Given the description of an element on the screen output the (x, y) to click on. 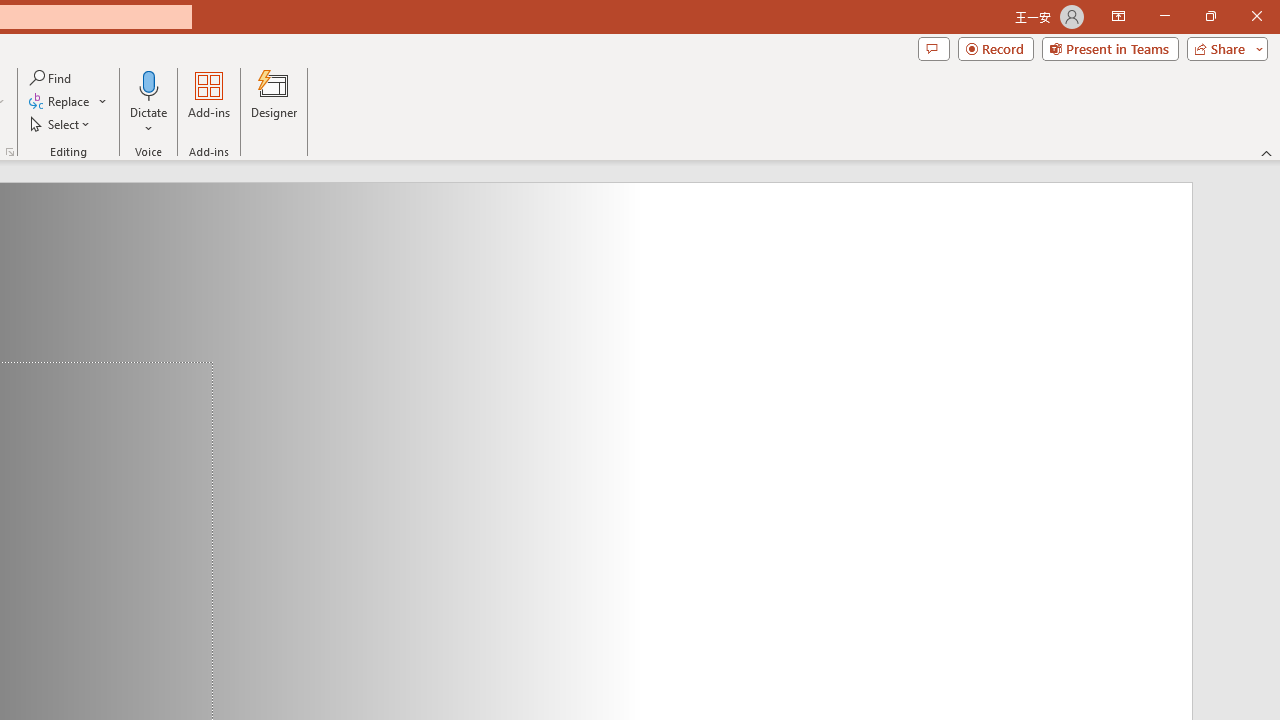
Select (61, 124)
Find... (51, 78)
Format Object... (9, 151)
Designer (274, 102)
